Given the description of an element on the screen output the (x, y) to click on. 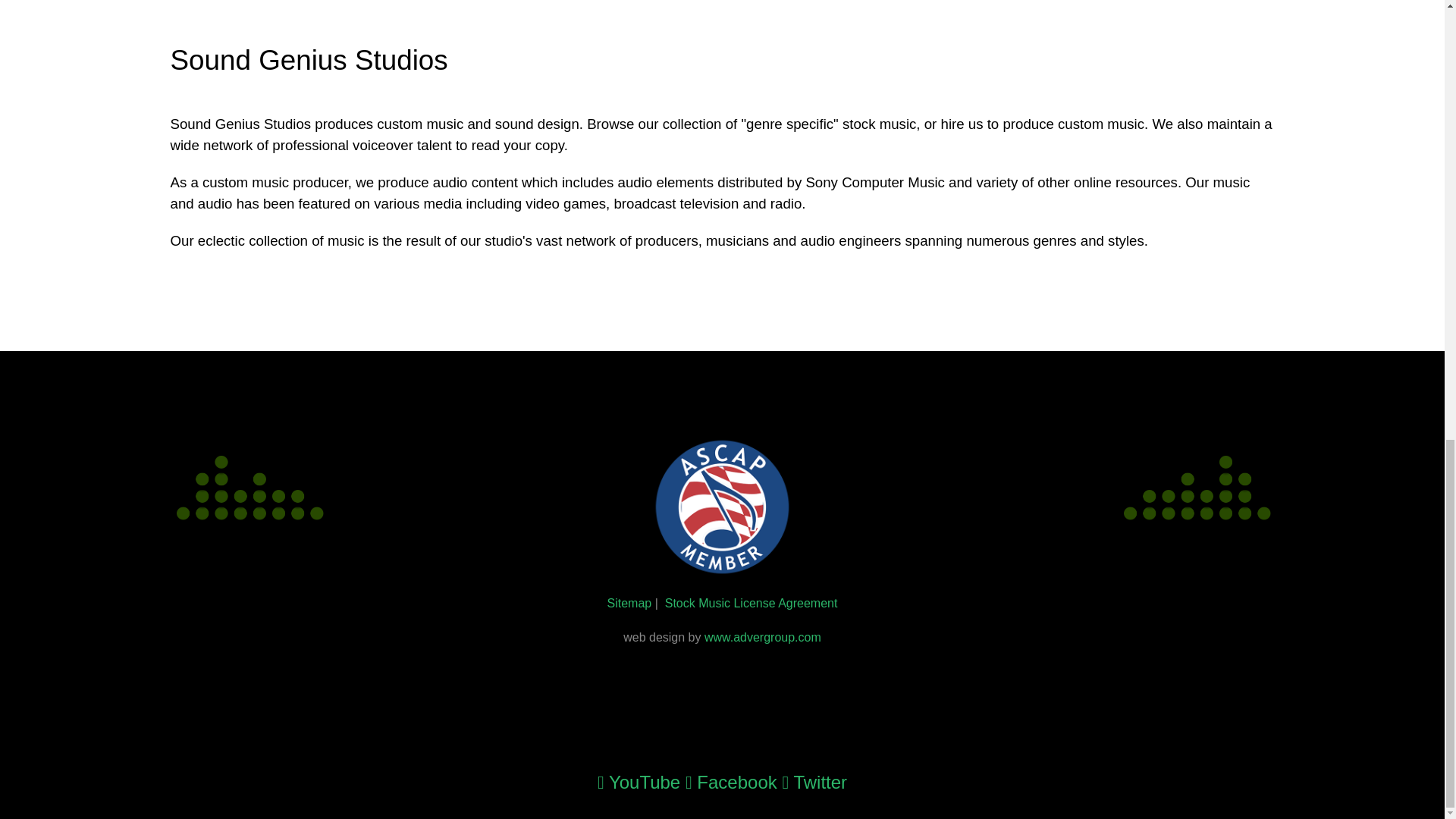
YouTube (640, 782)
www.advergroup.com (762, 636)
Sitemap (629, 603)
Click to view our ASCAP Publisher (721, 506)
Sitemap (629, 603)
Twitter (814, 782)
Facebook (734, 782)
Stock Music License Agreement (751, 603)
